Given the description of an element on the screen output the (x, y) to click on. 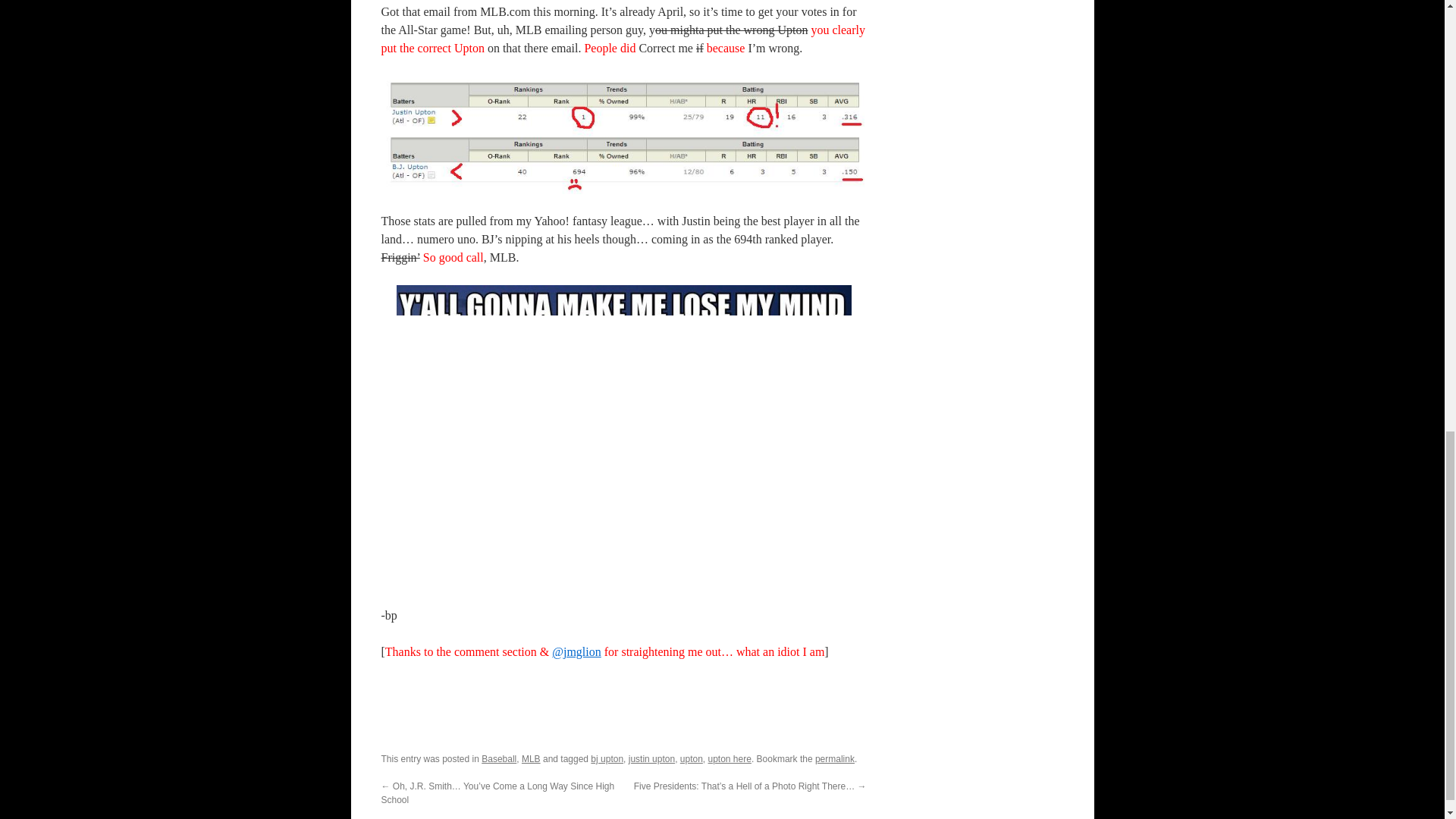
upton (691, 758)
MLB (530, 758)
Baseball (498, 758)
permalink (834, 758)
justin upton (651, 758)
bj upton (607, 758)
upton here (729, 758)
